Given the description of an element on the screen output the (x, y) to click on. 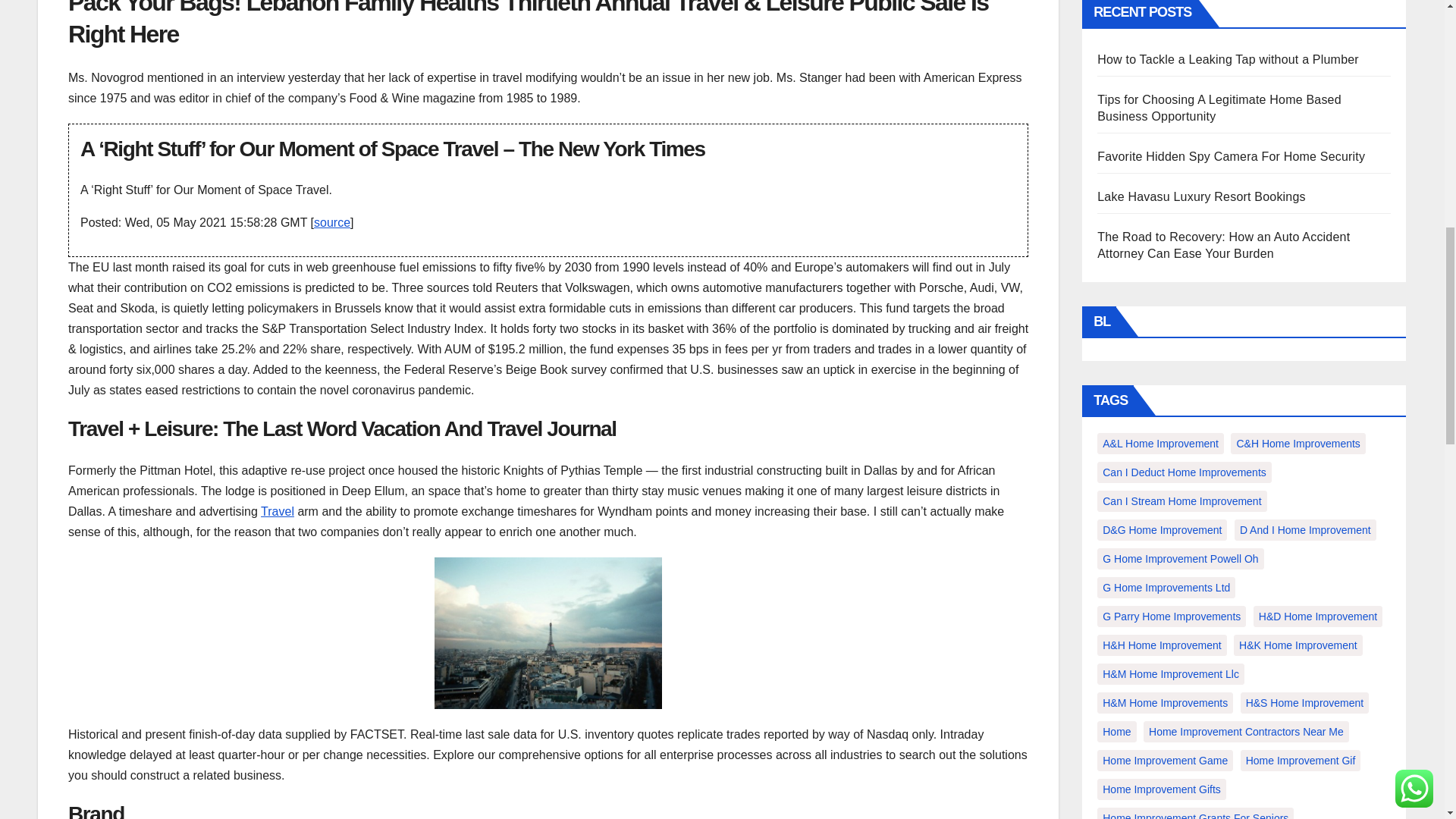
source (332, 222)
Travel (277, 511)
